Given the description of an element on the screen output the (x, y) to click on. 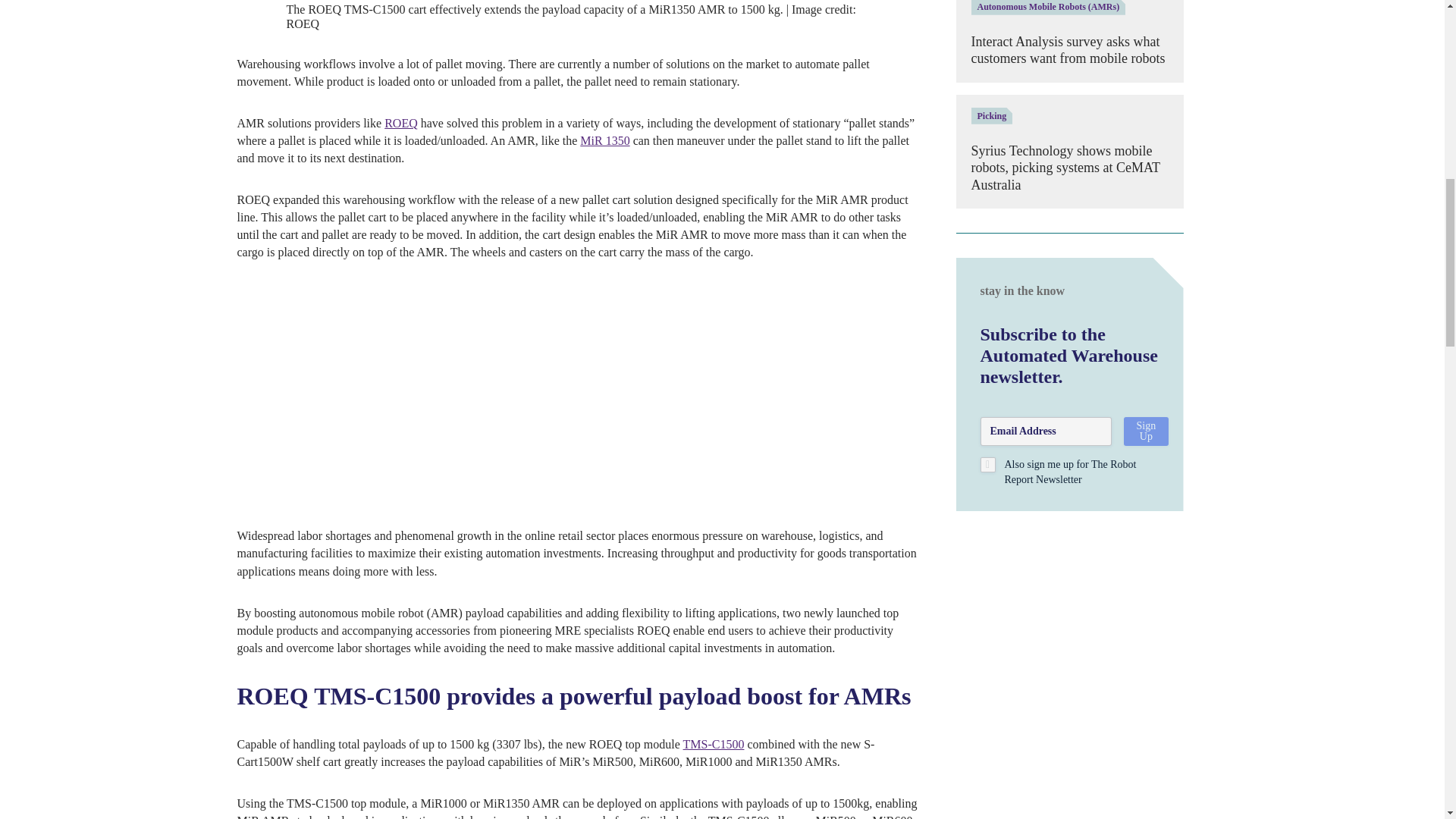
Y (986, 464)
